Given the description of an element on the screen output the (x, y) to click on. 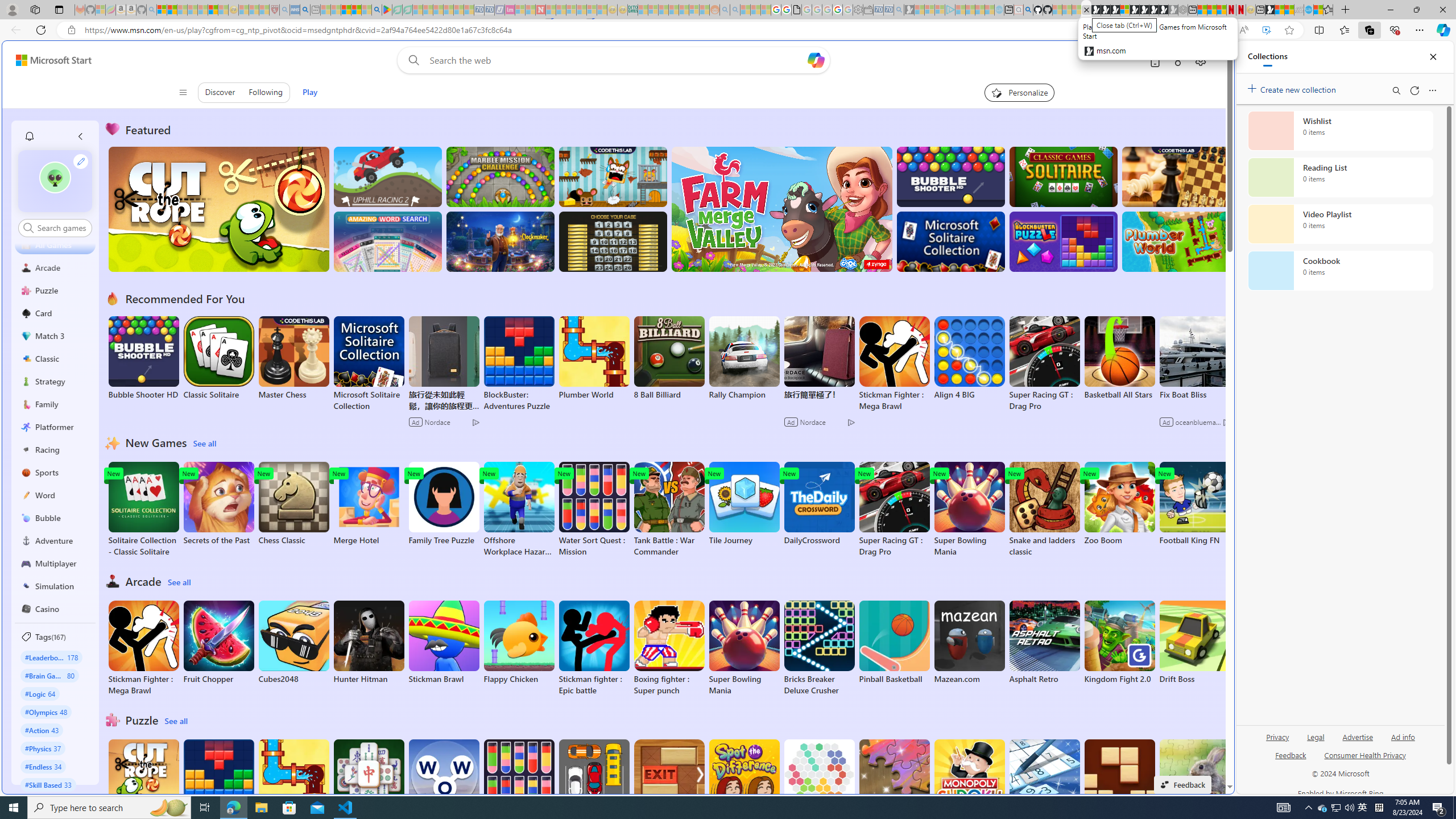
Personalize your feed" (1019, 92)
Merge Hotel (368, 503)
Deal or No Deal (612, 241)
